Given the description of an element on the screen output the (x, y) to click on. 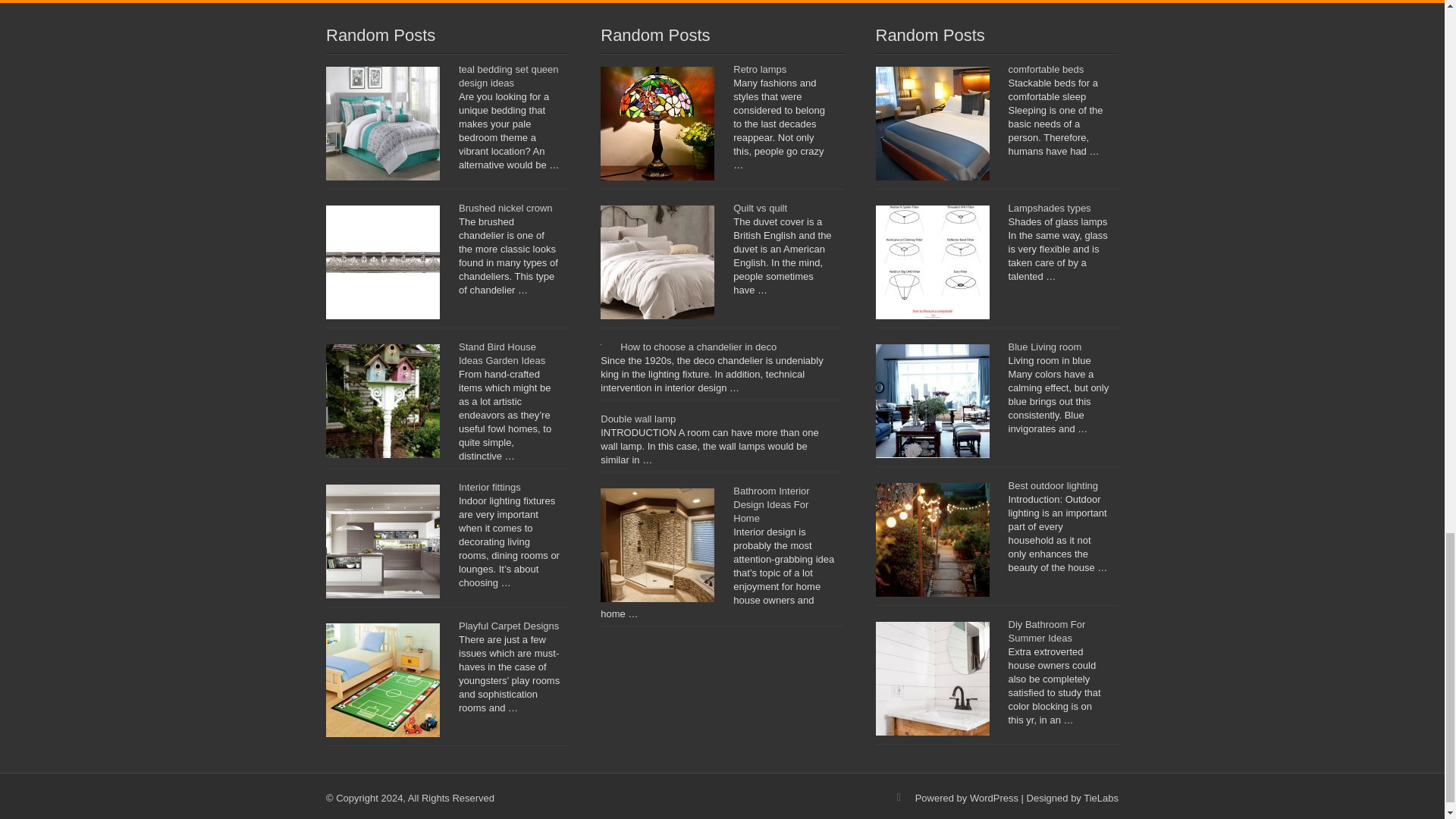
Brushed nickel crown (505, 207)
Double wall lamp (637, 419)
Quilt vs quilt (760, 207)
How to choose a chandelier in deco (698, 346)
teal bedding set queen design ideas (508, 75)
Bathroom Interior Design Ideas For Home (771, 504)
Retro lamps (759, 69)
Playful Carpet Designs (508, 625)
Stand Bird House Ideas Garden Ideas (501, 353)
Interior fittings (489, 487)
comfortable beds (1046, 69)
